Given the description of an element on the screen output the (x, y) to click on. 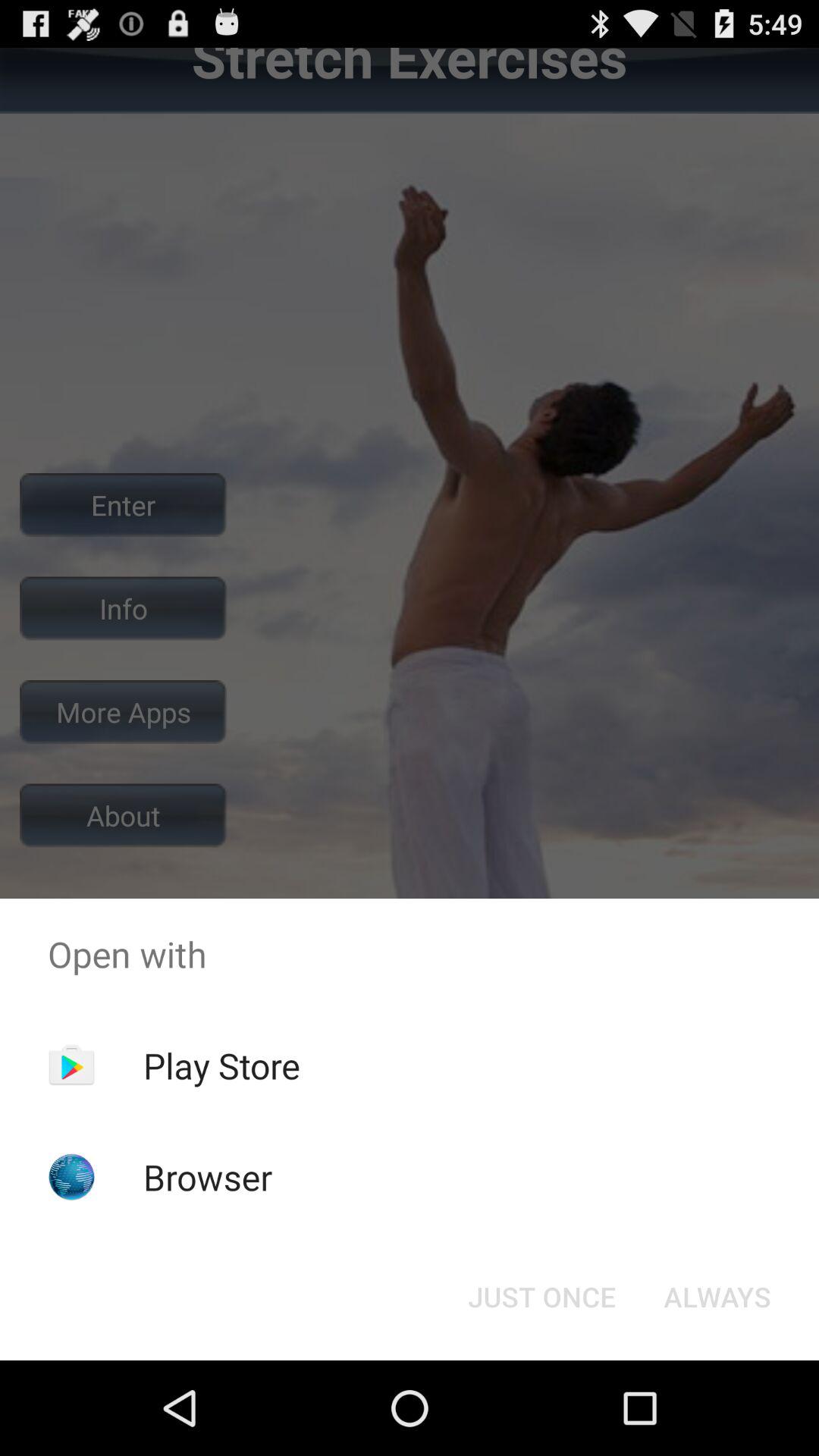
tap just once item (541, 1296)
